Given the description of an element on the screen output the (x, y) to click on. 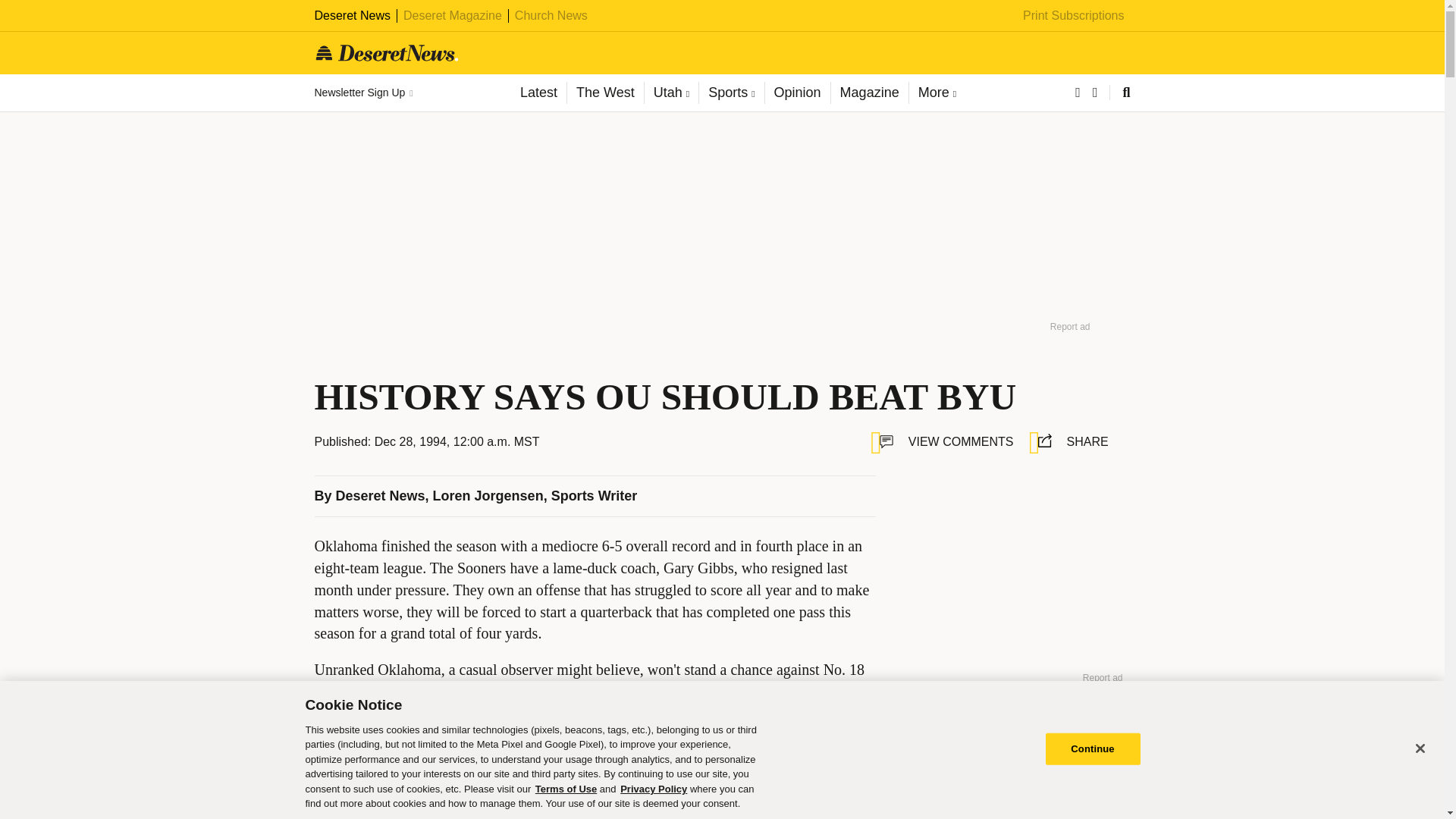
Sports (730, 92)
Print Subscriptions (1073, 15)
Report ad (1069, 326)
Opinion (796, 92)
Deseret News (380, 495)
Utah (670, 92)
Deseret Magazine (452, 15)
3rd party ad content (1008, 570)
The West (604, 92)
Deseret News (352, 15)
Newsletter Sign Up (363, 92)
Magazine (868, 92)
3rd party ad content (594, 797)
Latest (538, 92)
